Given the description of an element on the screen output the (x, y) to click on. 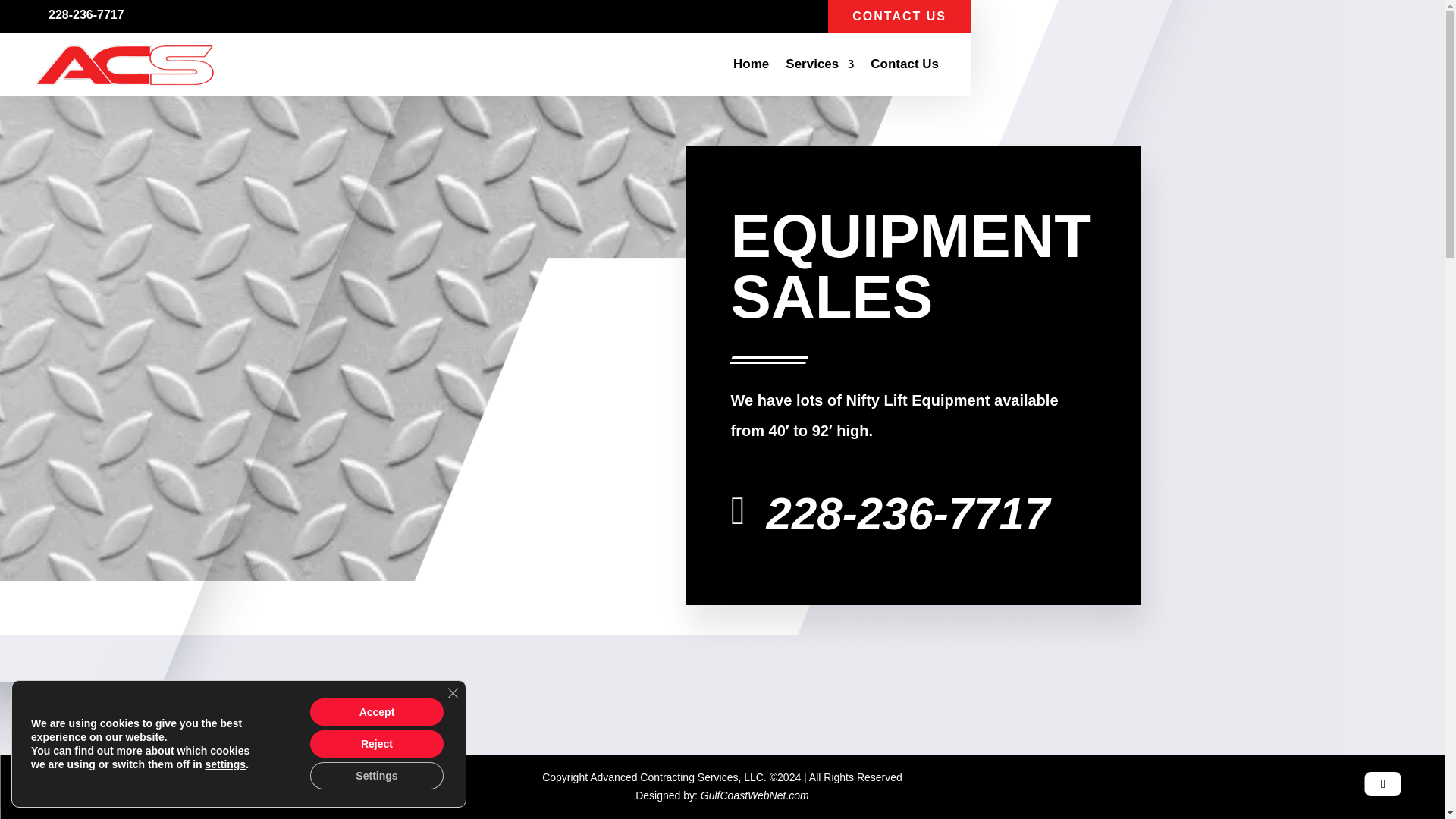
Privacy Policy (266, 782)
Home (750, 64)
GulfCoastWebNet.com (754, 794)
Add an Article (75, 782)
Services (819, 64)
CONTACT US (899, 16)
Follow on Facebook (1382, 784)
228-236-7717 (908, 513)
Contact Us (904, 64)
